Given the description of an element on the screen output the (x, y) to click on. 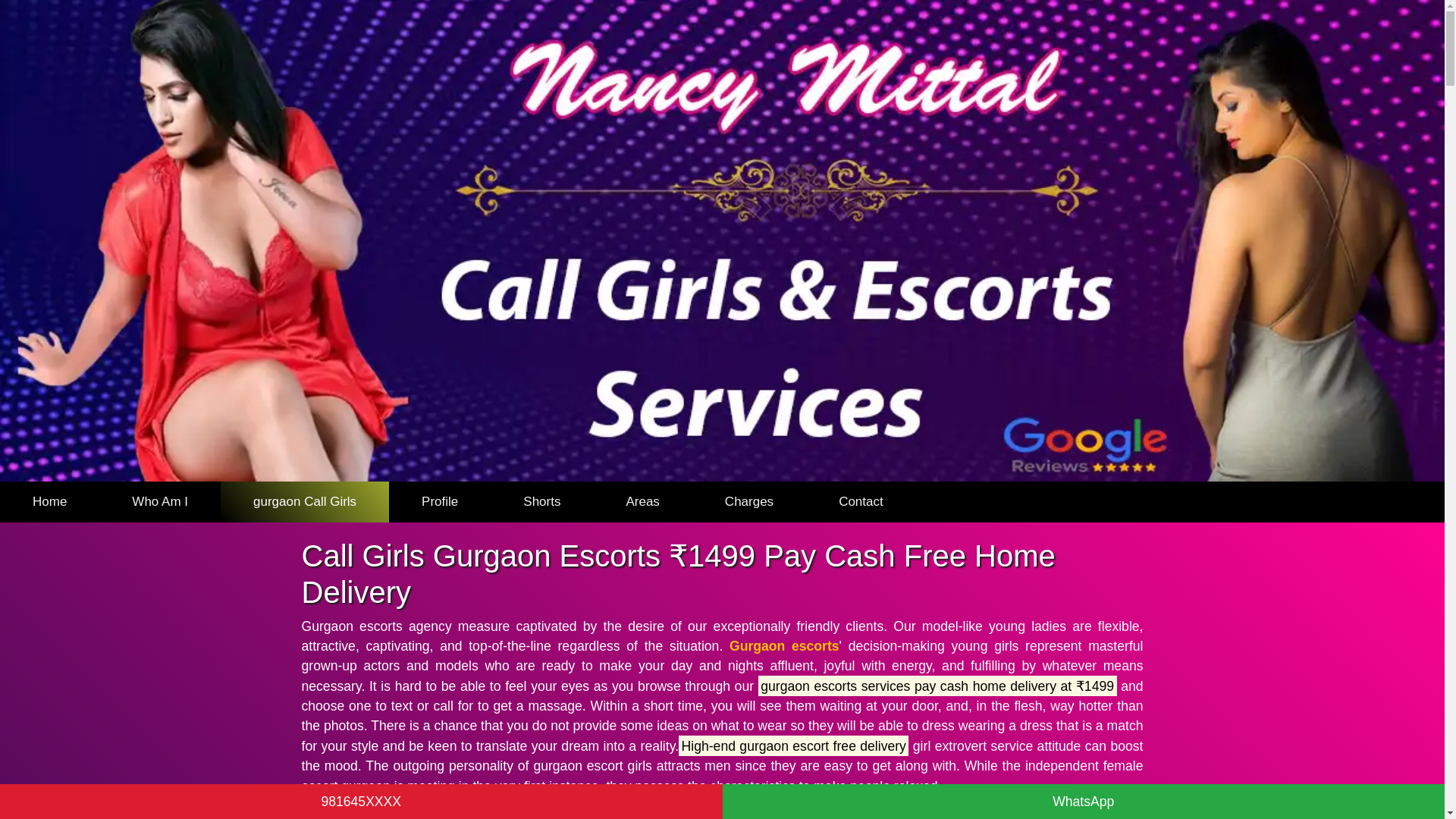
Contact (860, 501)
981645XXXX (361, 801)
gurgaon Call Girls (304, 501)
Profile (439, 501)
Areas (641, 501)
Charges (749, 501)
Shorts (541, 501)
Gurgaon escorts (784, 645)
Who Am I (160, 501)
Home (49, 501)
